Given the description of an element on the screen output the (x, y) to click on. 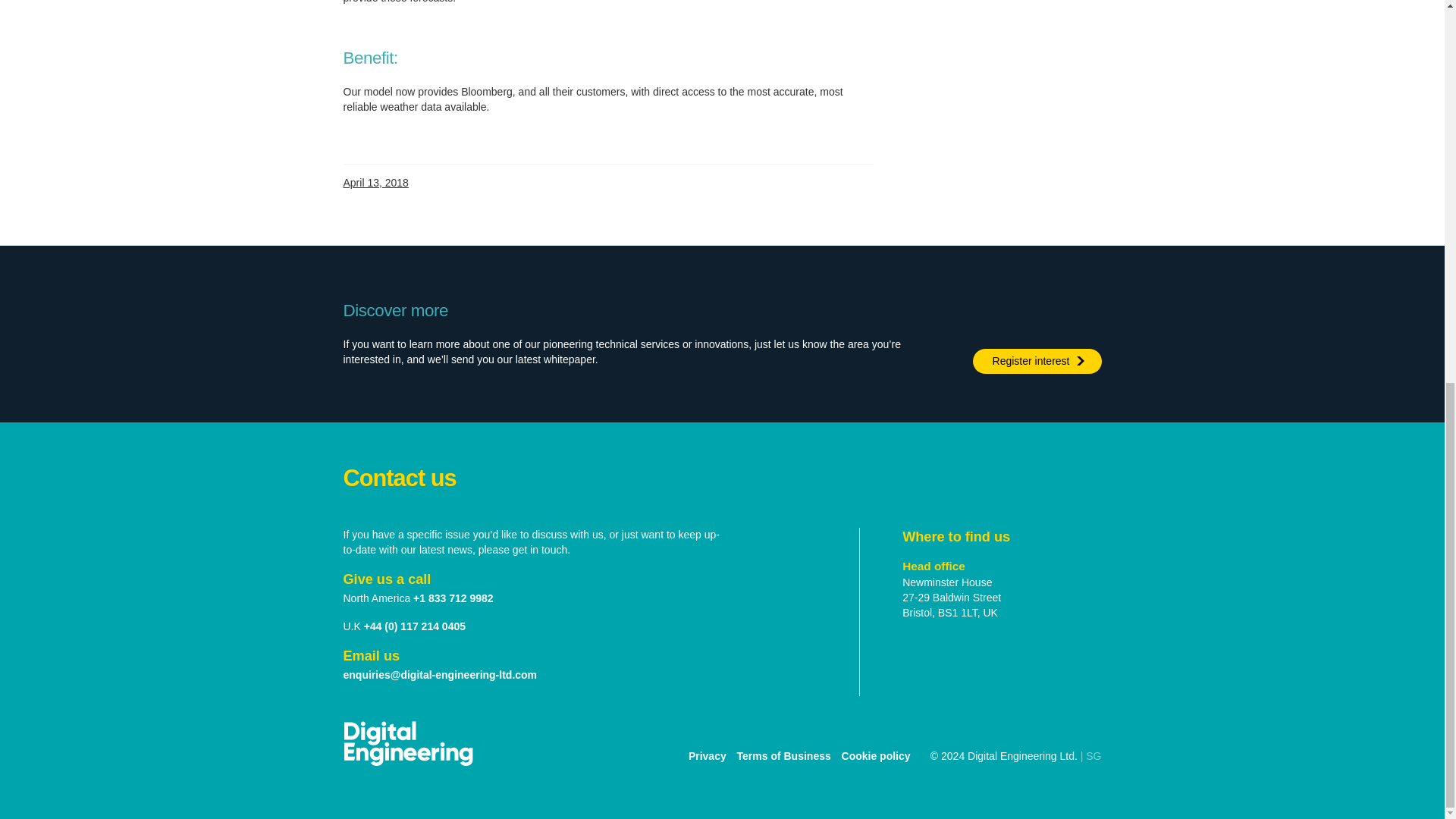
Privacy (707, 755)
Cookie policy (876, 755)
Terms of Business (783, 755)
Register interest (1036, 360)
